Given the description of an element on the screen output the (x, y) to click on. 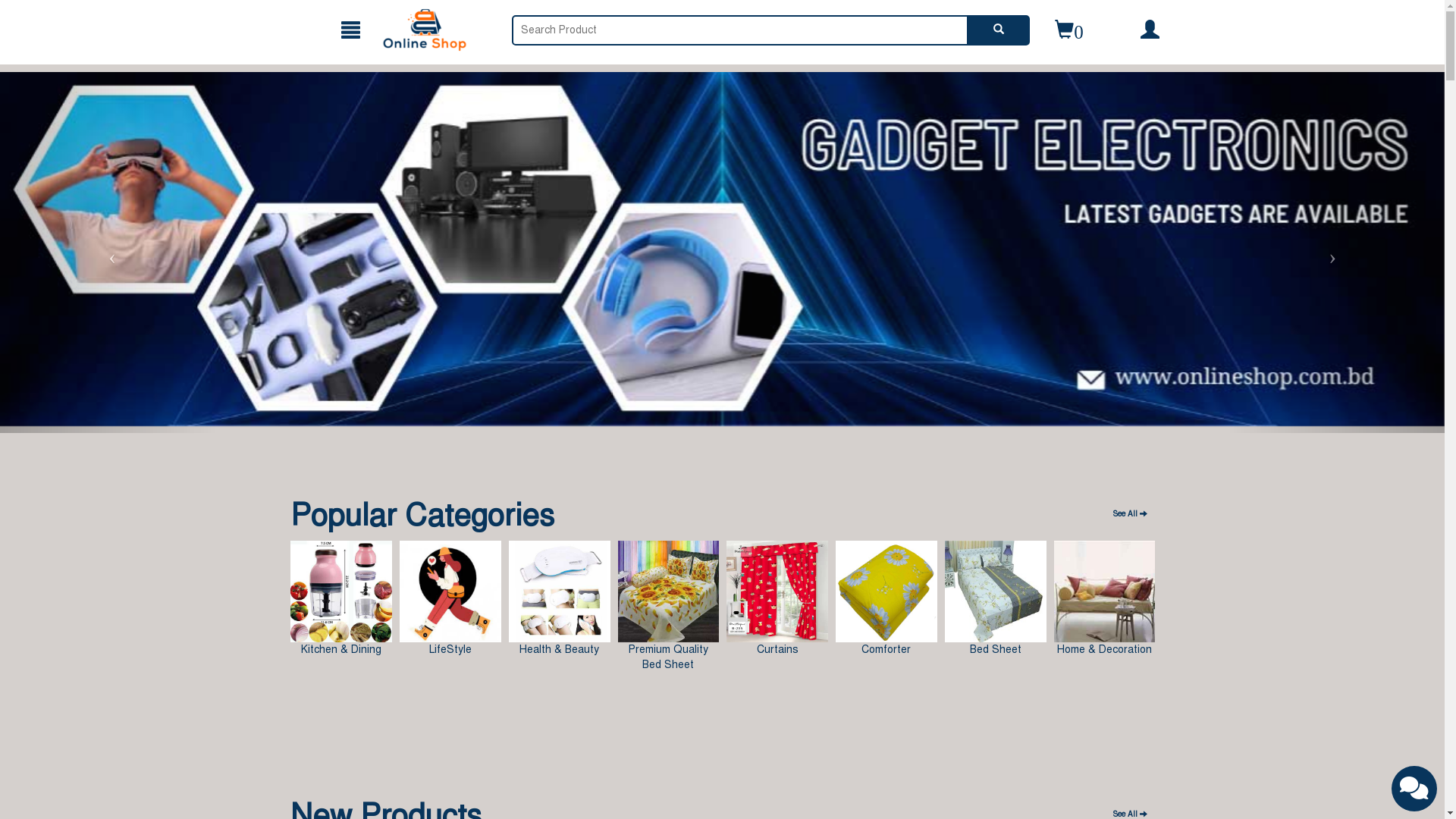
Chat With Us Element type: hover (1414, 788)
See All Element type: text (1129, 514)
